Given the description of an element on the screen output the (x, y) to click on. 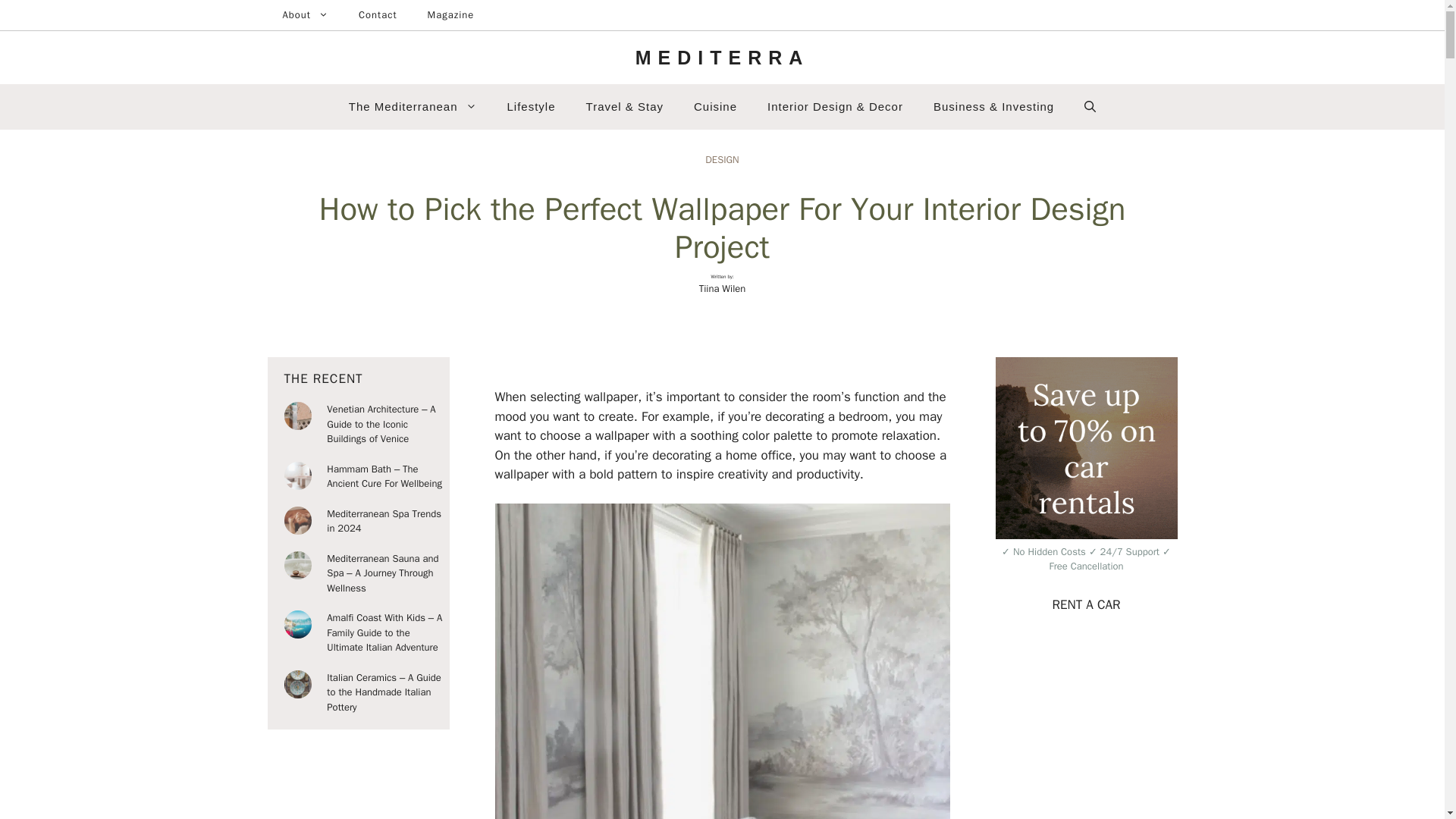
Cuisine (715, 106)
The Mediterranean (412, 106)
MEDITERRA (721, 56)
Contact (377, 15)
About (304, 15)
DESIGN (721, 159)
Lifestyle (531, 106)
Magazine (450, 15)
